Given the description of an element on the screen output the (x, y) to click on. 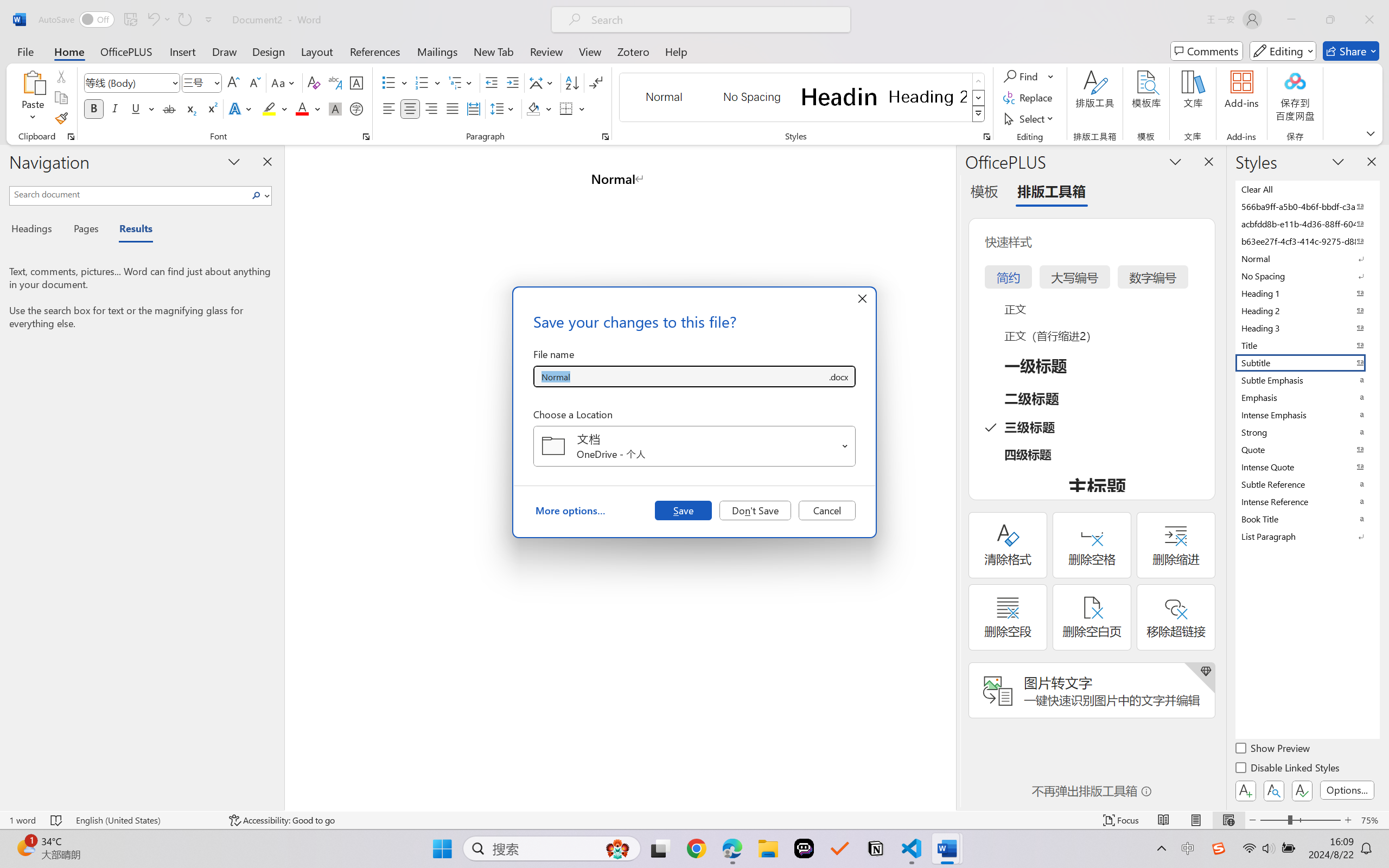
Notion (875, 848)
Mailings (437, 51)
Zoom Out (1273, 819)
Bullets (388, 82)
Quote (1306, 449)
References (375, 51)
OfficePLUS (126, 51)
Font Color (308, 108)
Open (844, 446)
AutomationID: DynamicSearchBoxGleamImage (617, 848)
Row up (978, 81)
